Given the description of an element on the screen output the (x, y) to click on. 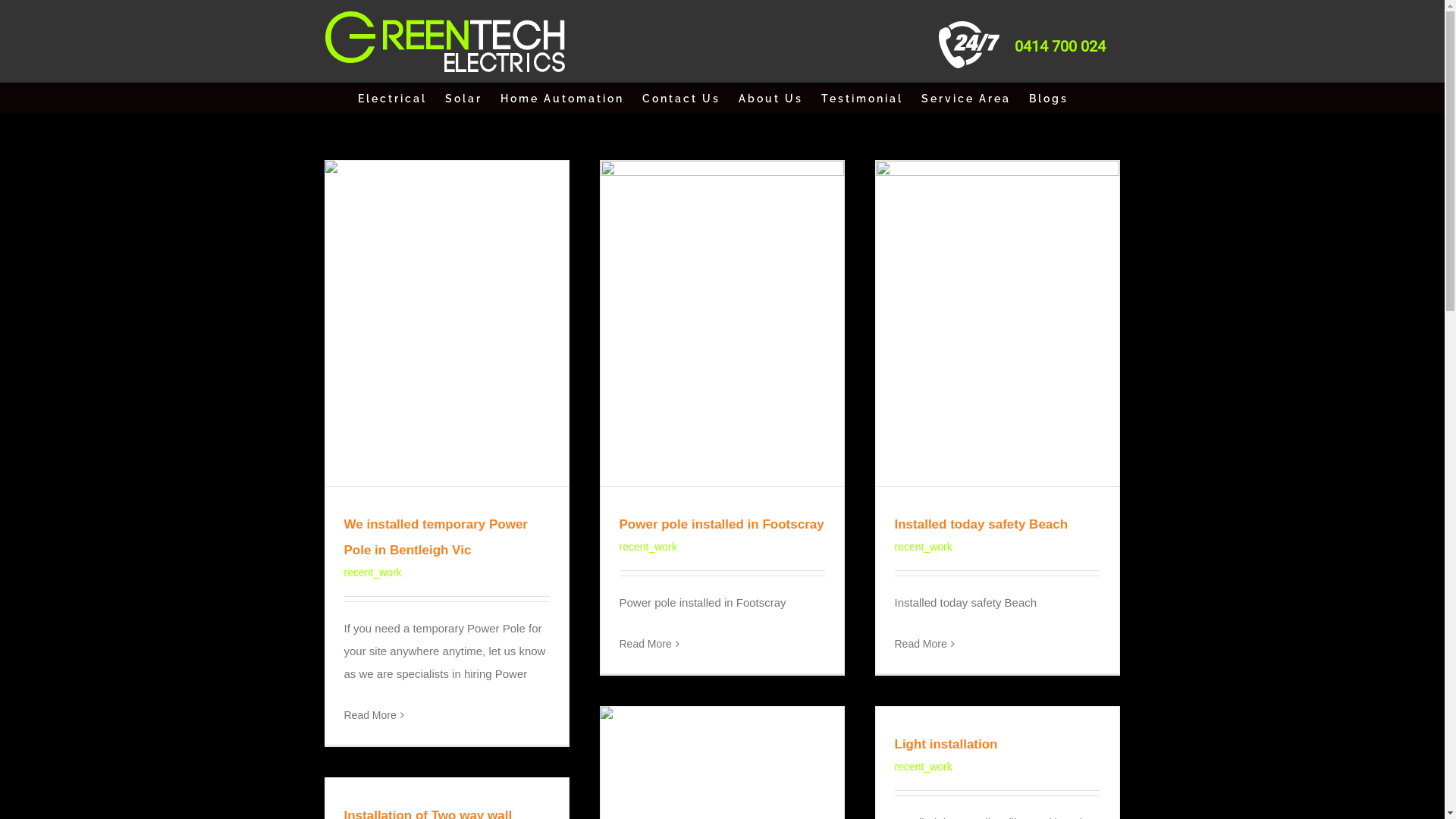
recent_work Element type: text (923, 766)
Read More Element type: text (644, 643)
Read More Element type: text (920, 643)
recent_work Element type: text (923, 546)
recent_work Element type: text (647, 546)
Contact Us Element type: text (681, 98)
Solar Element type: text (463, 98)
Installed today safety Beach Element type: text (981, 524)
We installed temporary Power Pole in Bentleigh Vic Element type: text (435, 537)
Light installation Element type: text (945, 744)
Electrical Element type: text (391, 98)
Read More Element type: text (370, 715)
About Us Element type: text (770, 98)
Home Automation Element type: text (562, 98)
recent_work Element type: text (372, 572)
0414 700 024 Element type: text (1059, 46)
Testimonial Element type: text (862, 98)
Power pole installed in Footscray Element type: text (720, 524)
Service Area Element type: text (965, 98)
Blogs Element type: text (1048, 98)
